Given the description of an element on the screen output the (x, y) to click on. 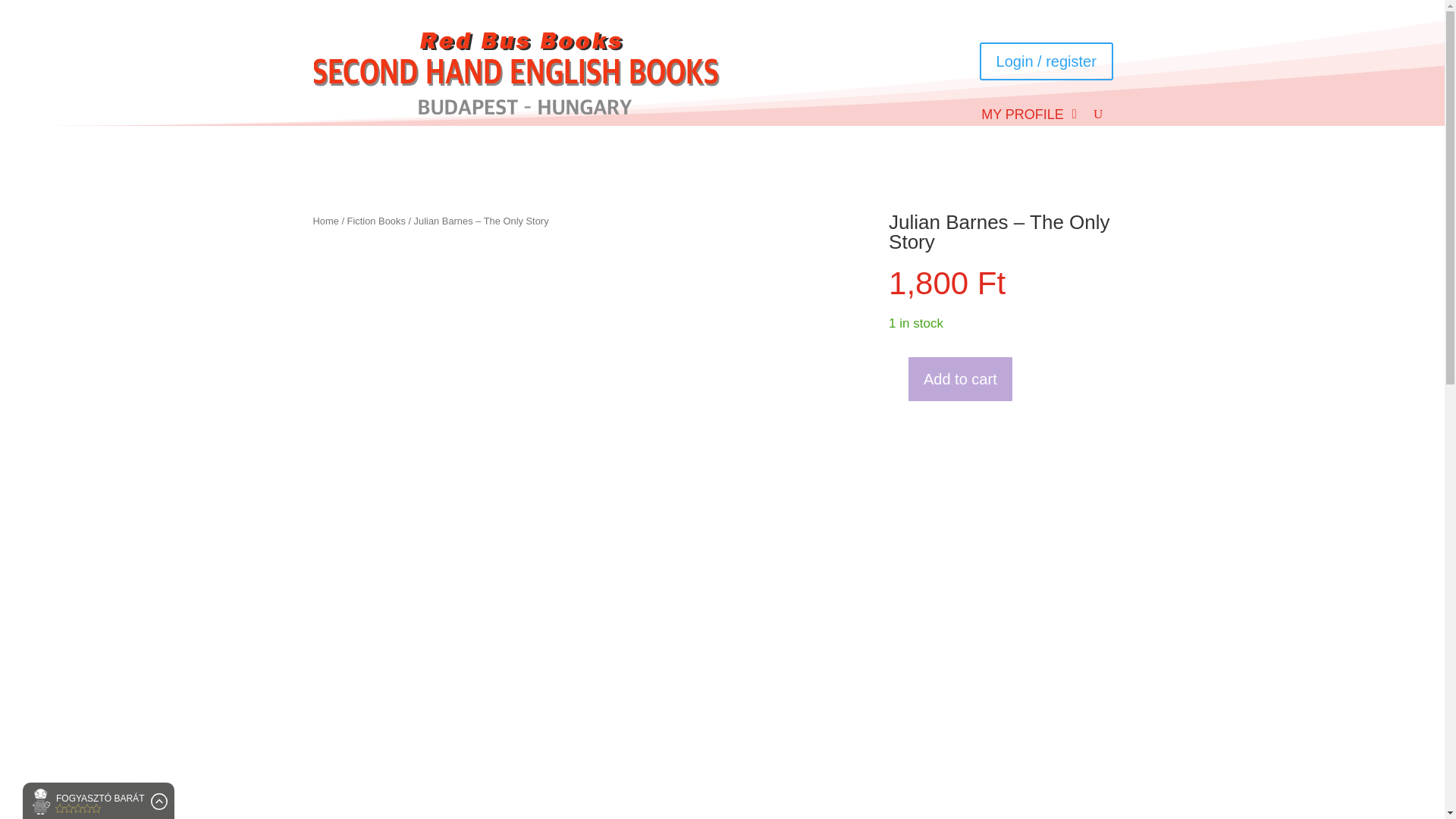
Fiction Books (376, 220)
MY PROFILE (1022, 117)
Add to cart (960, 379)
Home (325, 220)
